Given the description of an element on the screen output the (x, y) to click on. 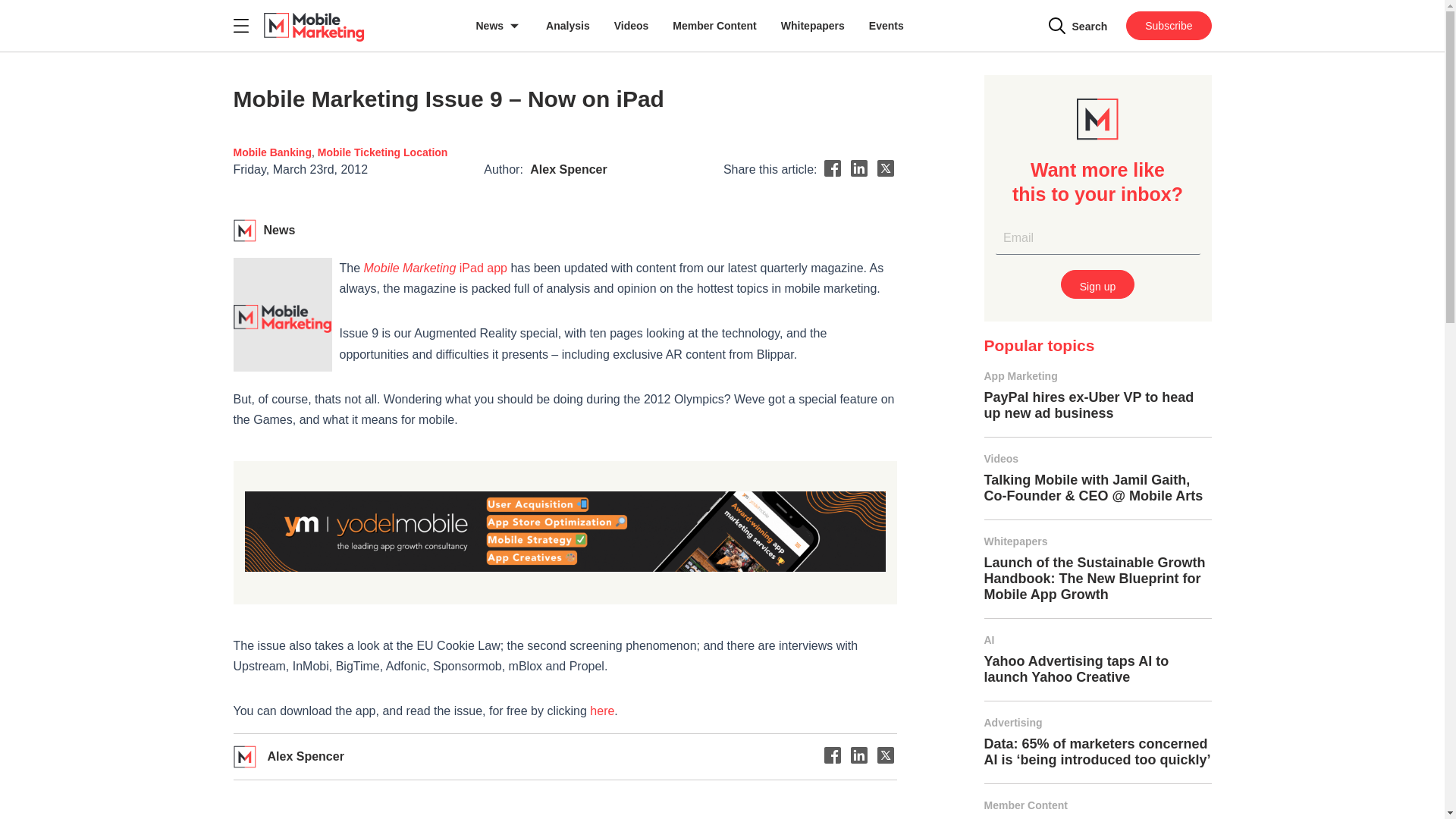
Sign up (1097, 284)
News (499, 25)
